Given the description of an element on the screen output the (x, y) to click on. 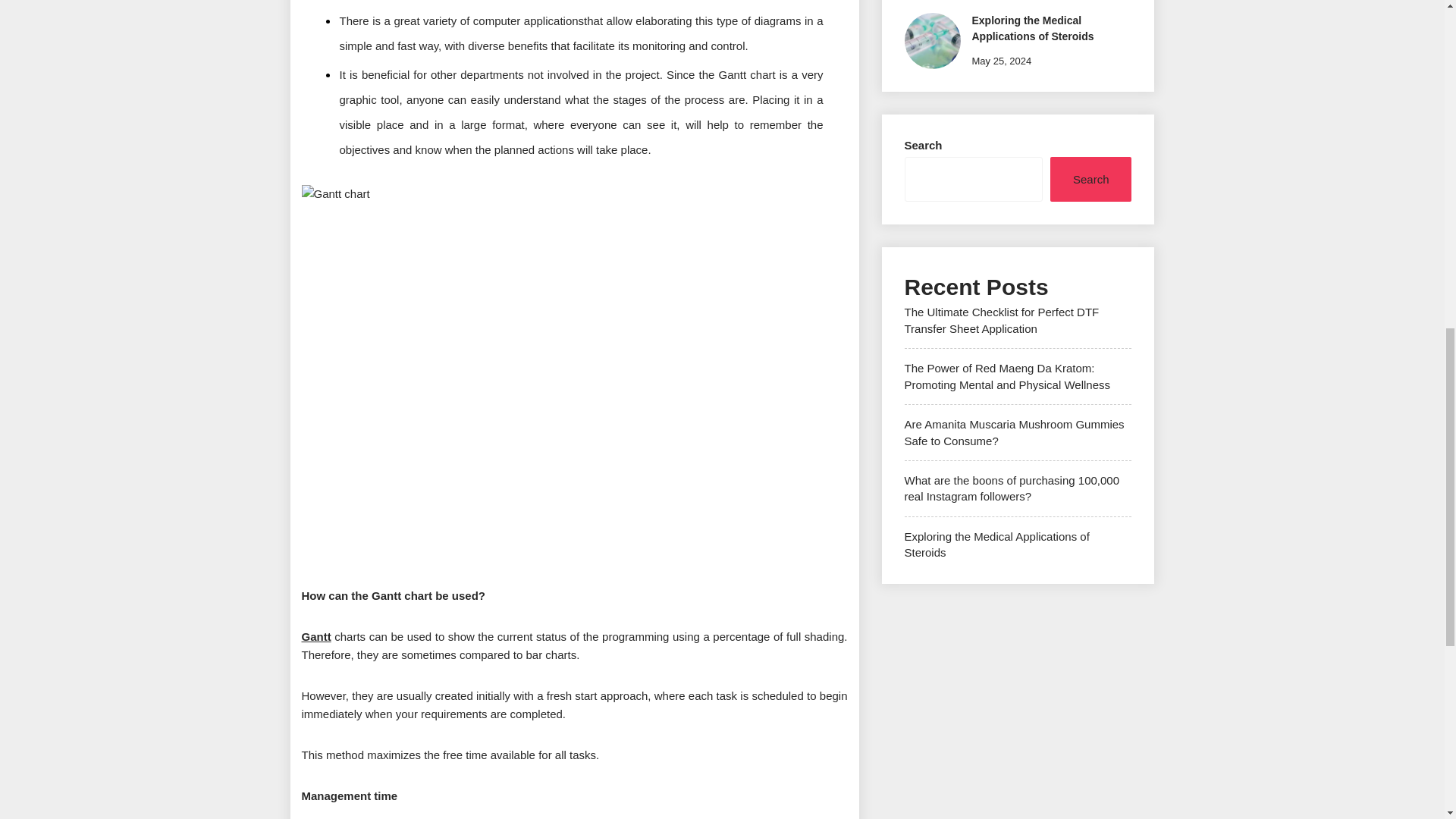
Exploring the Medical Applications of Steroids (996, 543)
Search (1090, 179)
Exploring the Medical Applications of Steroids (1033, 28)
Gantt (316, 635)
Are Amanita Muscaria Mushroom Gummies Safe to Consume? (1014, 431)
